Given the description of an element on the screen output the (x, y) to click on. 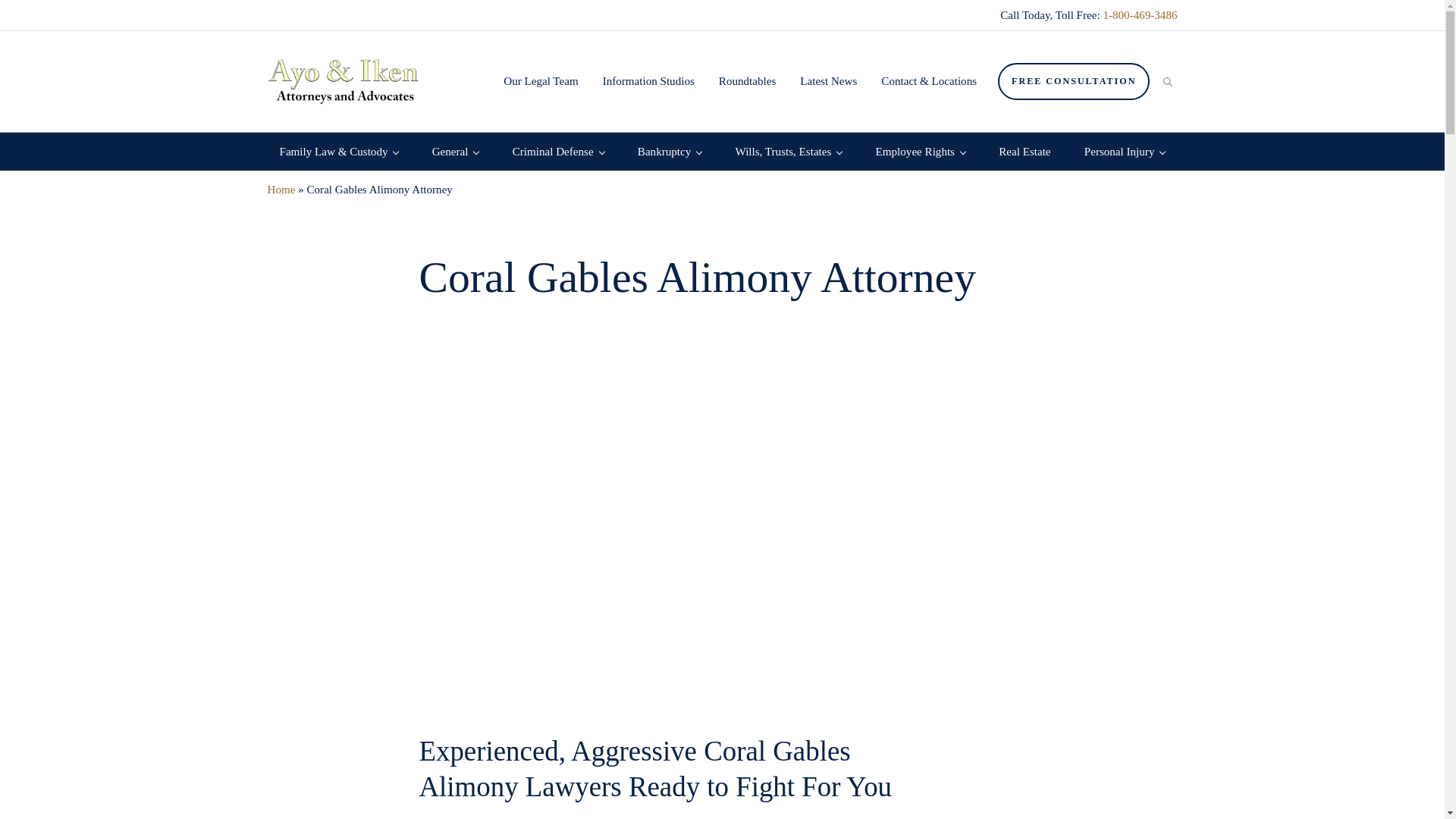
1-800-469-3486 (1139, 15)
Roundtables (746, 80)
FREE CONSULTATION (1073, 81)
Our Legal Team (540, 80)
Latest News (828, 80)
Information Studios (648, 80)
